Given the description of an element on the screen output the (x, y) to click on. 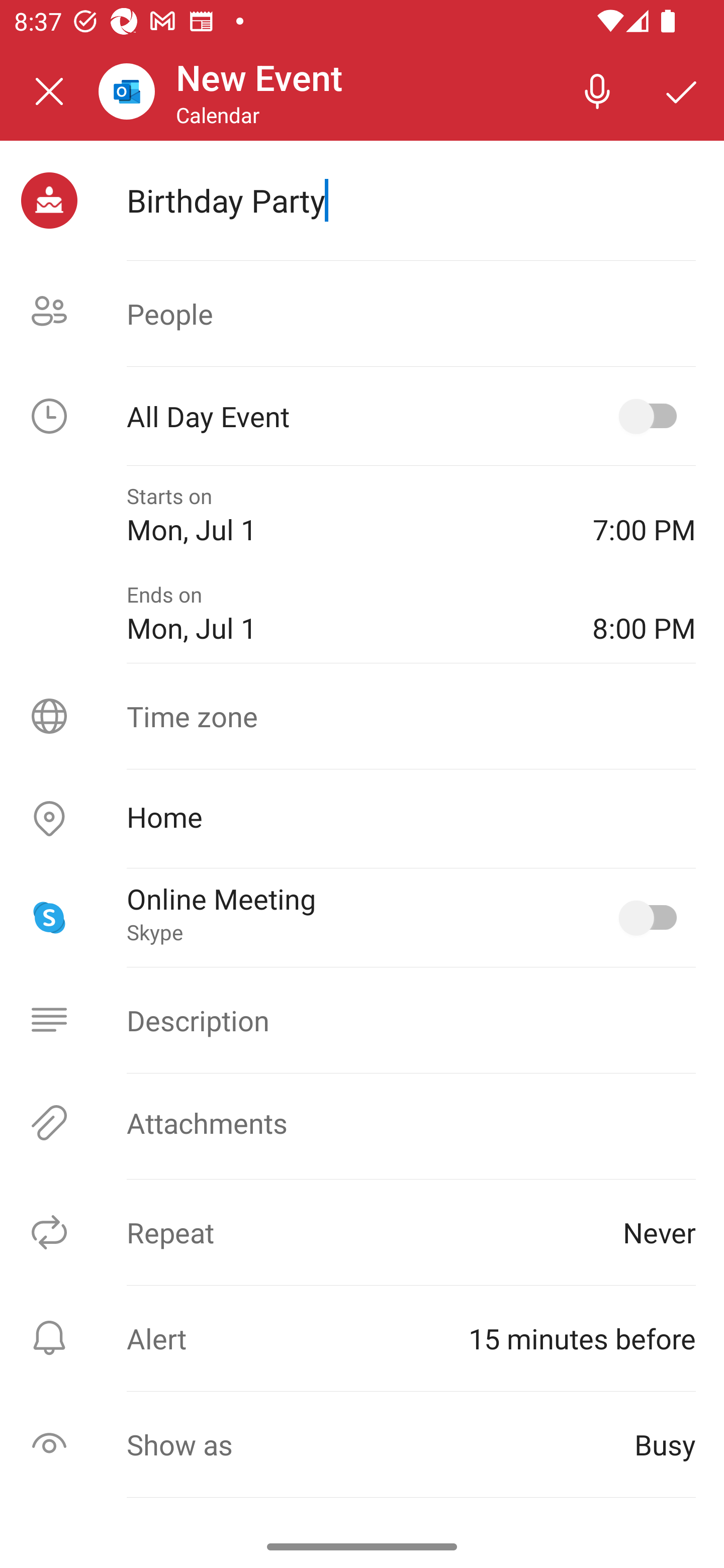
Close (49, 91)
Save (681, 90)
Birthday Party (410, 200)
birthday selected, event icon picker (48, 200)
People (362, 313)
All Day Event (362, 415)
Starts on Mon, Jul 1 (345, 514)
7:00 PM (644, 514)
Ends on Mon, Jul 1 (345, 613)
8:00 PM (644, 613)
Time zone (362, 715)
Location, Home Home (362, 818)
Online Meeting, Skype selected (651, 917)
Description (362, 1019)
Attachments (362, 1122)
Repeat Never (362, 1232)
Alert ⁨15 minutes before (362, 1337)
Show as Busy (362, 1444)
